Given the description of an element on the screen output the (x, y) to click on. 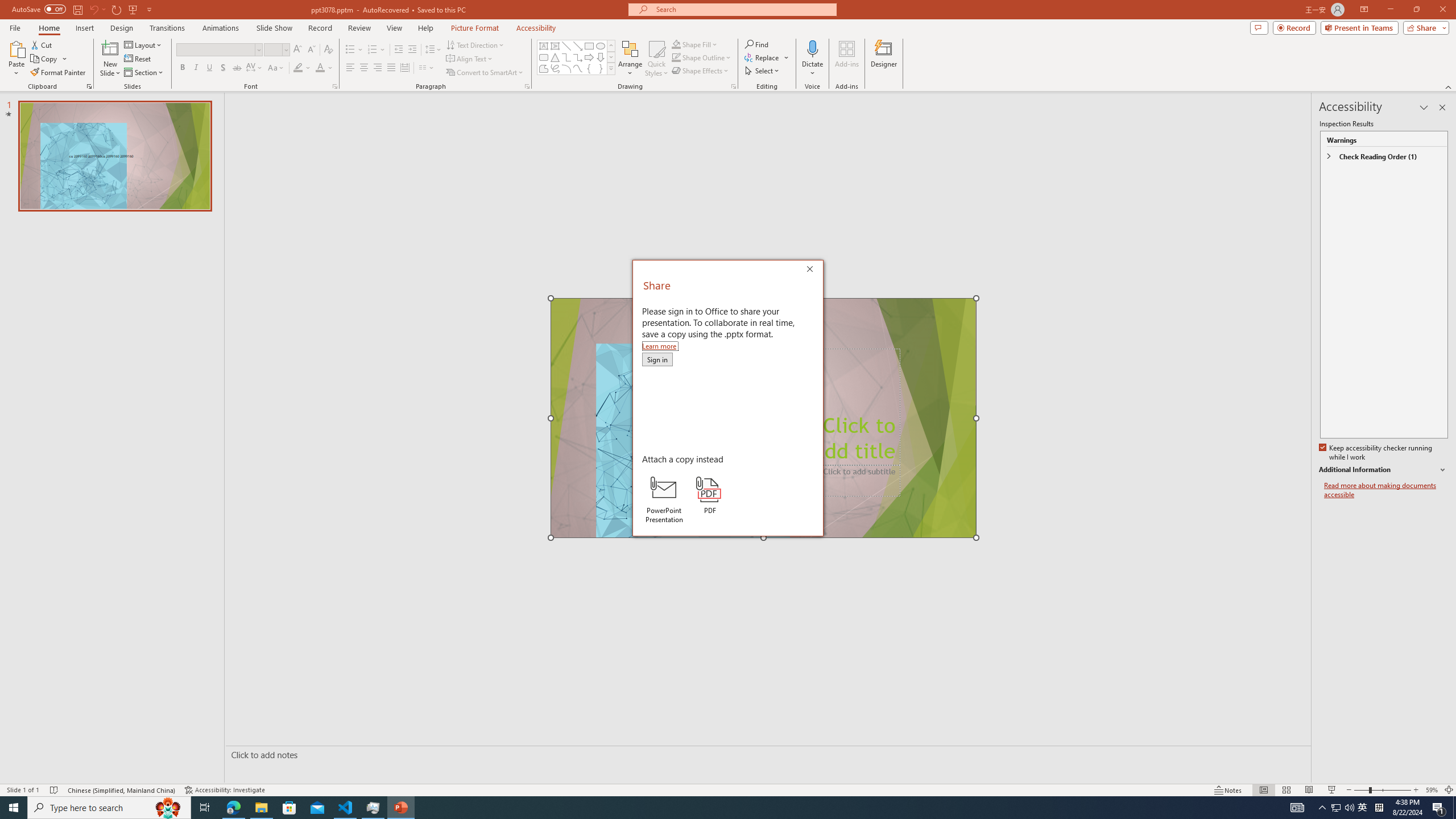
Isosceles Triangle (554, 57)
Keep accessibility checker running while I work (1376, 452)
Arrow: Down (600, 57)
Notification Chevron (1322, 807)
Task View (204, 807)
PowerPoint - 1 running window (400, 807)
Oval (600, 45)
Arrow: Right (589, 57)
Character Spacing (254, 67)
Clear Formatting (327, 49)
